Given the description of an element on the screen output the (x, y) to click on. 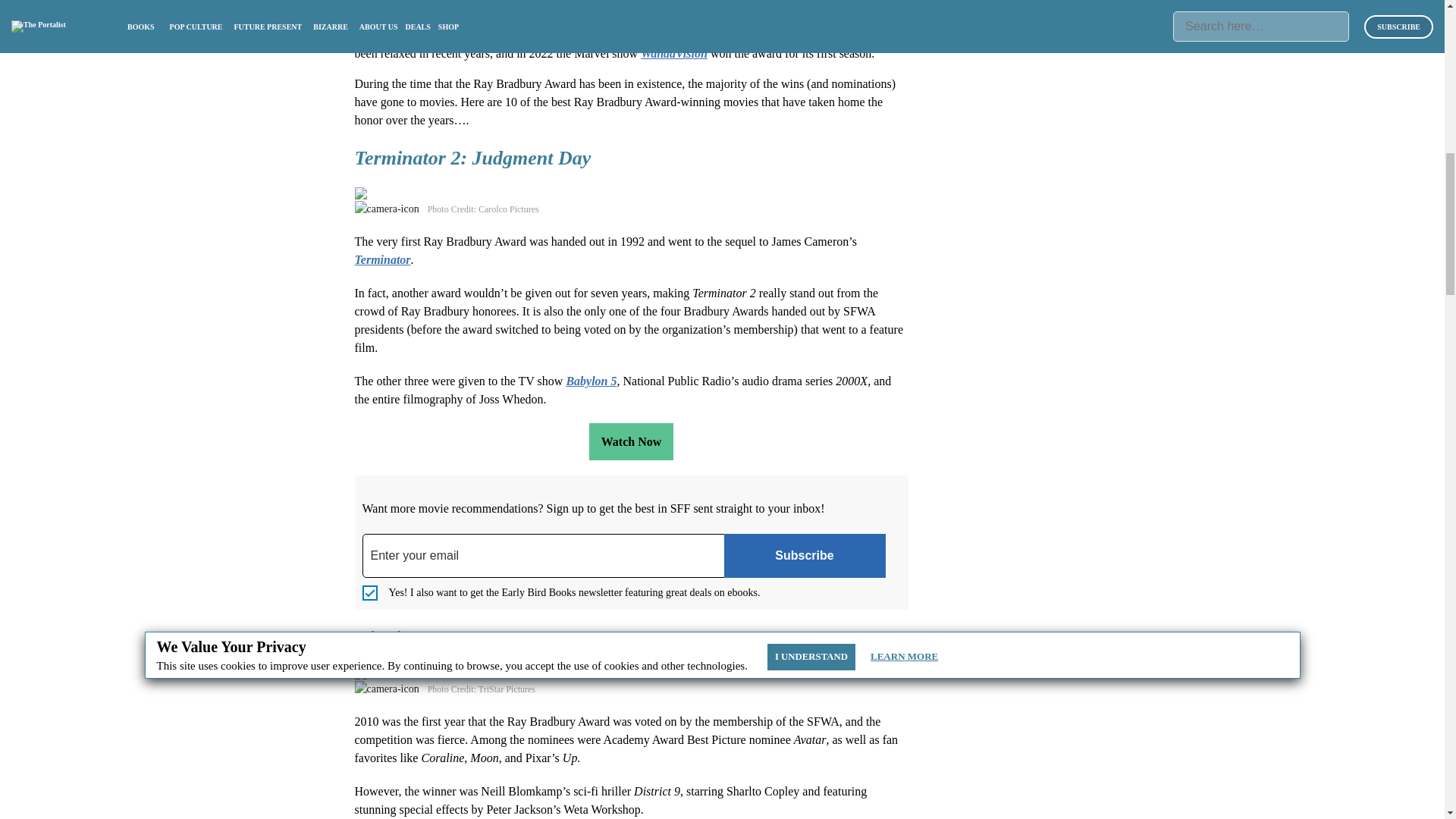
Terminator (382, 259)
Subscribe (804, 555)
Babylon 5 (590, 380)
Watch Now (631, 441)
WandaVision (673, 52)
